Given the description of an element on the screen output the (x, y) to click on. 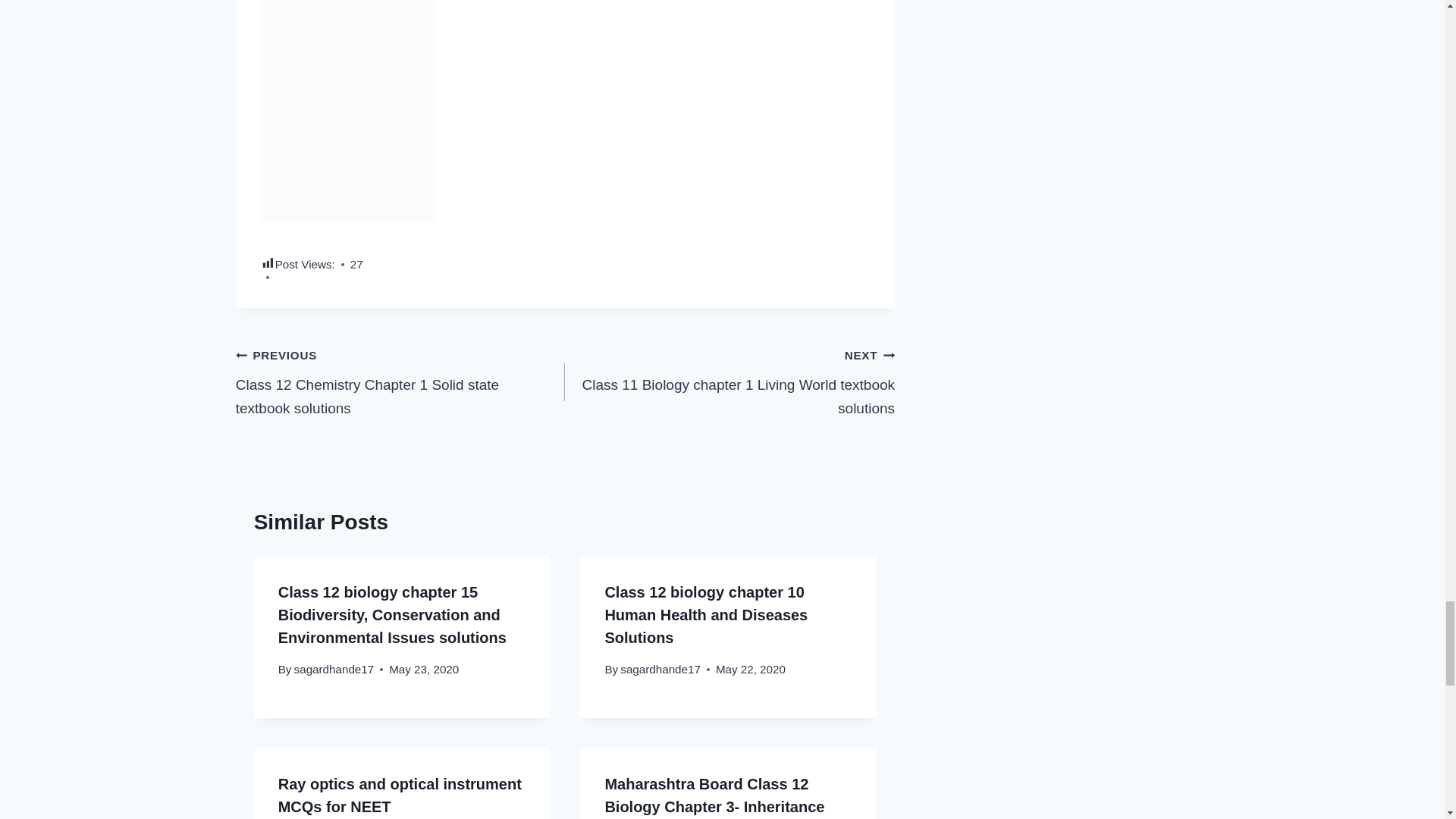
Ray optics and optical instrument MCQs for NEET (399, 794)
sagardhande17 (334, 668)
sagardhande17 (660, 668)
